Given the description of an element on the screen output the (x, y) to click on. 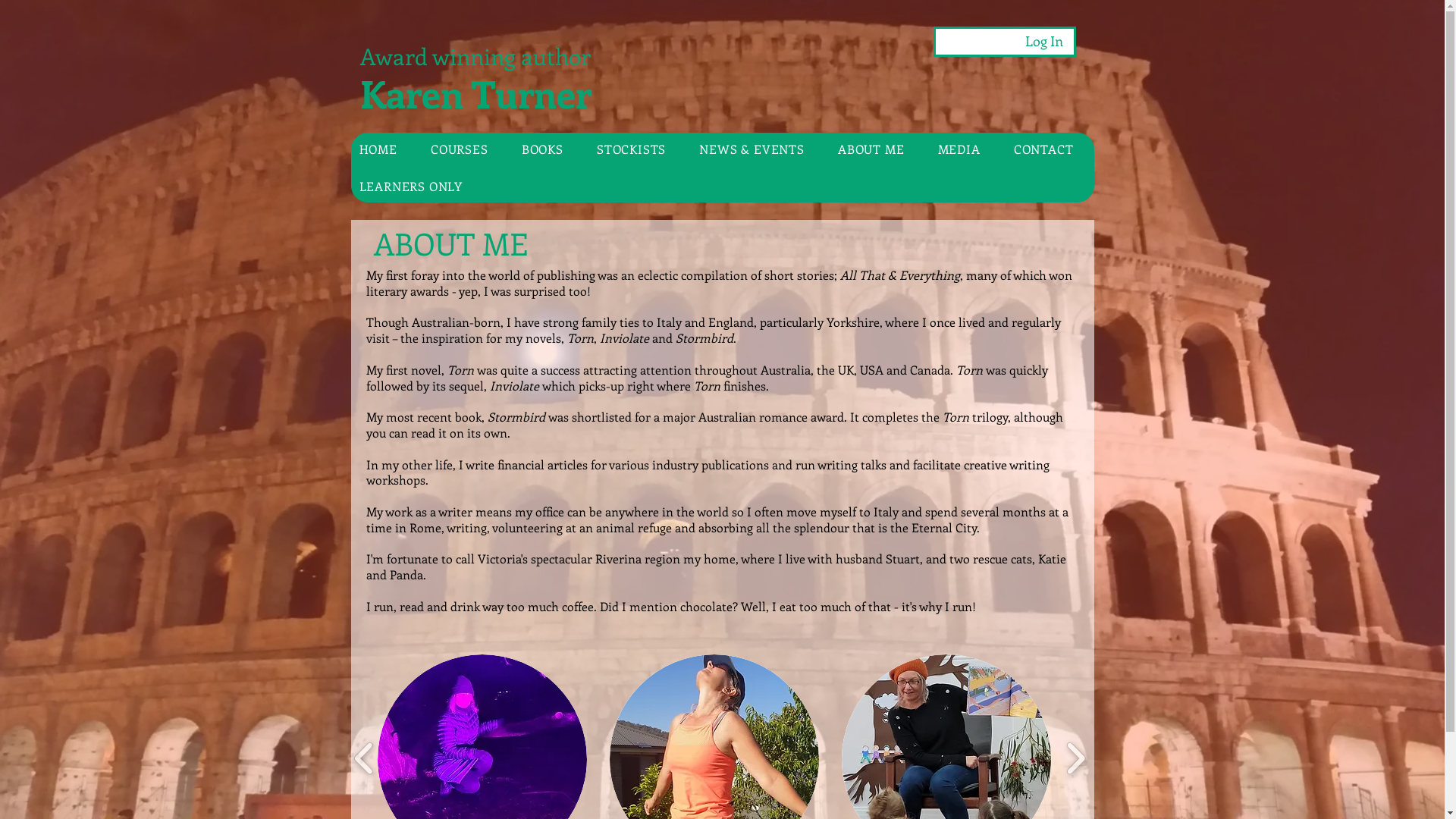
Log In Element type: text (1043, 41)
CONTACT Element type: text (1049, 148)
NEWS & EVENTS Element type: text (757, 148)
ABOUT ME Element type: text (877, 148)
BOOKS Element type: text (548, 148)
MEDIA Element type: text (965, 148)
LEARNERS ONLY Element type: text (722, 185)
Karen Turner  Element type: text (479, 92)
HOME Element type: text (384, 148)
COURSES Element type: text (465, 148)
STOCKISTS Element type: text (637, 148)
